Given the description of an element on the screen output the (x, y) to click on. 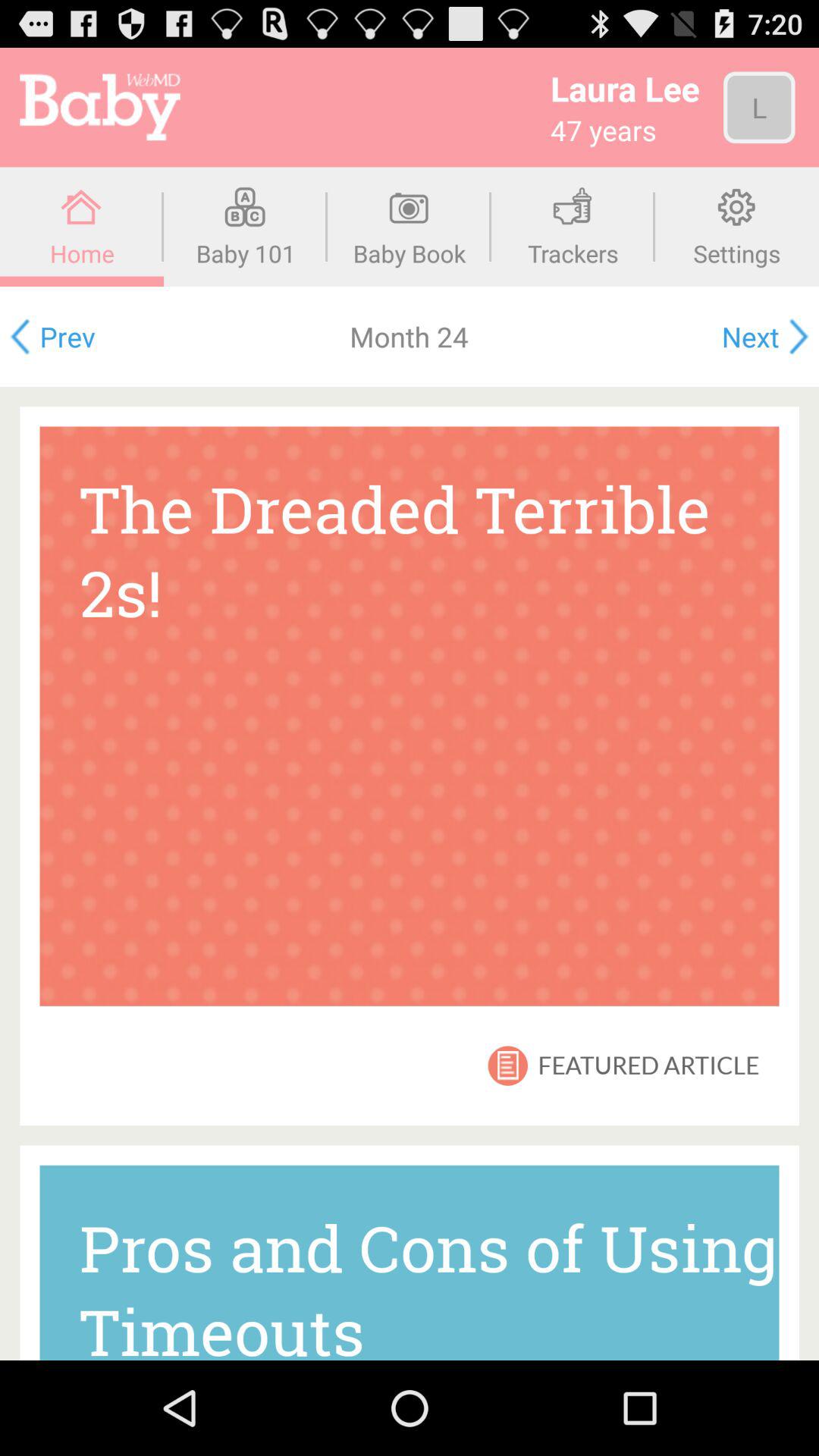
tap the item next to featured article icon (507, 1065)
